Given the description of an element on the screen output the (x, y) to click on. 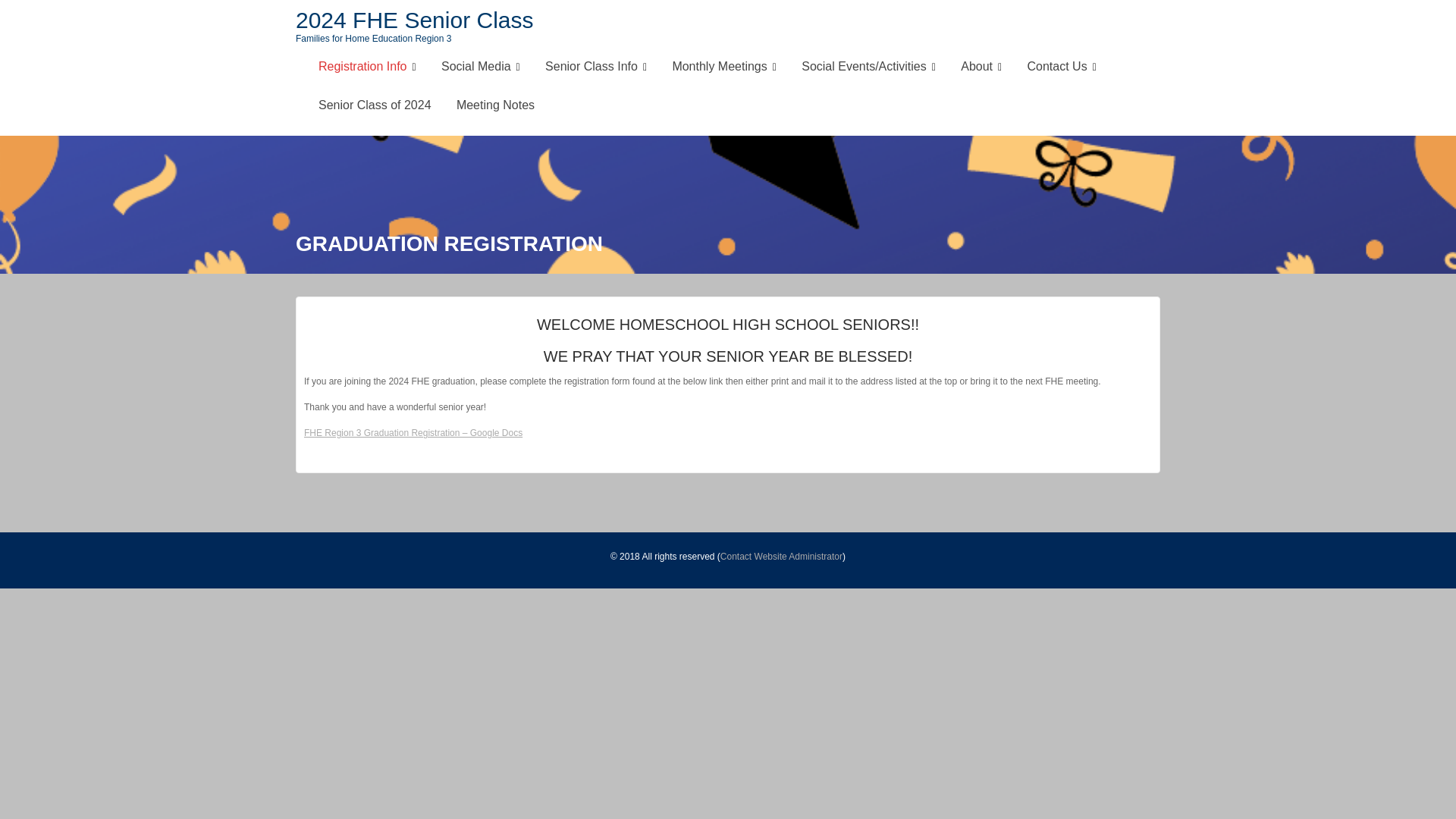
Registration Info (367, 66)
Senior Class Info (596, 66)
2024 FHE Senior Class (413, 19)
Social Media (480, 66)
Contact Us (1062, 66)
2024 FHE Senior Class (413, 19)
Monthly Meetings (724, 66)
About (981, 66)
